Given the description of an element on the screen output the (x, y) to click on. 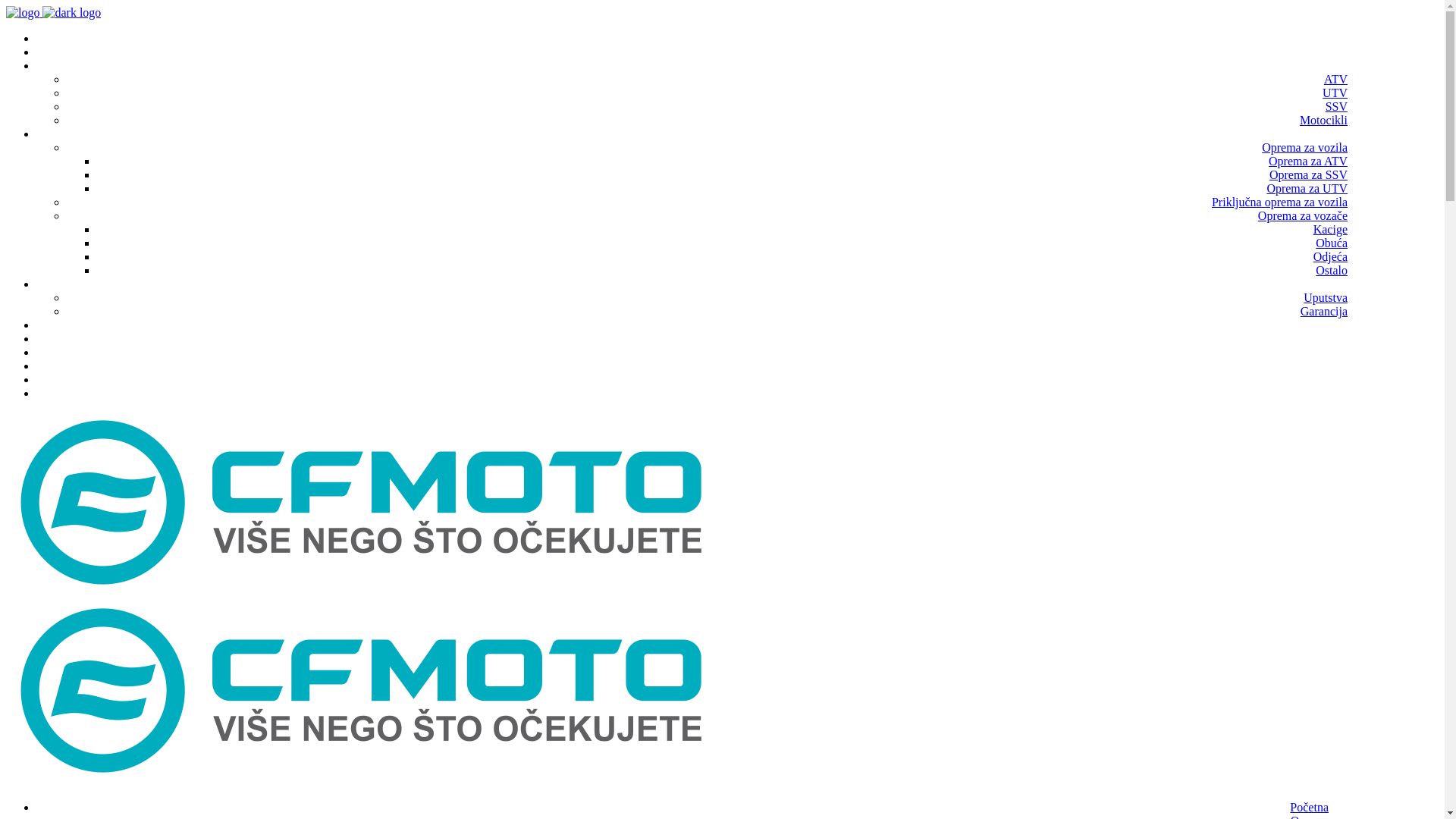
O nama Element type: text (1309, 52)
Kontakt Element type: text (1308, 393)
Posao Element type: text (1313, 352)
ATV Element type: text (1335, 78)
Oprema za vozila Element type: text (1304, 147)
Oprema za SSV Element type: text (1308, 174)
Ostalo Element type: text (1331, 269)
Dijelovi Element type: text (1308, 325)
SSV Element type: text (1336, 106)
Oprema Element type: text (1304, 134)
Iskustva Element type: text (1308, 338)
Oprema za UTV Element type: text (1306, 188)
Uputstva Element type: text (1325, 297)
Oprema za ATV Element type: text (1307, 160)
Kacige Element type: text (1330, 228)
Najave Element type: text (1311, 366)
Garancija Element type: text (1323, 310)
UTV Element type: text (1334, 92)
Motocikli Element type: text (1323, 119)
Vozila Element type: text (1308, 65)
Blog Element type: text (1316, 379)
